Given the description of an element on the screen output the (x, y) to click on. 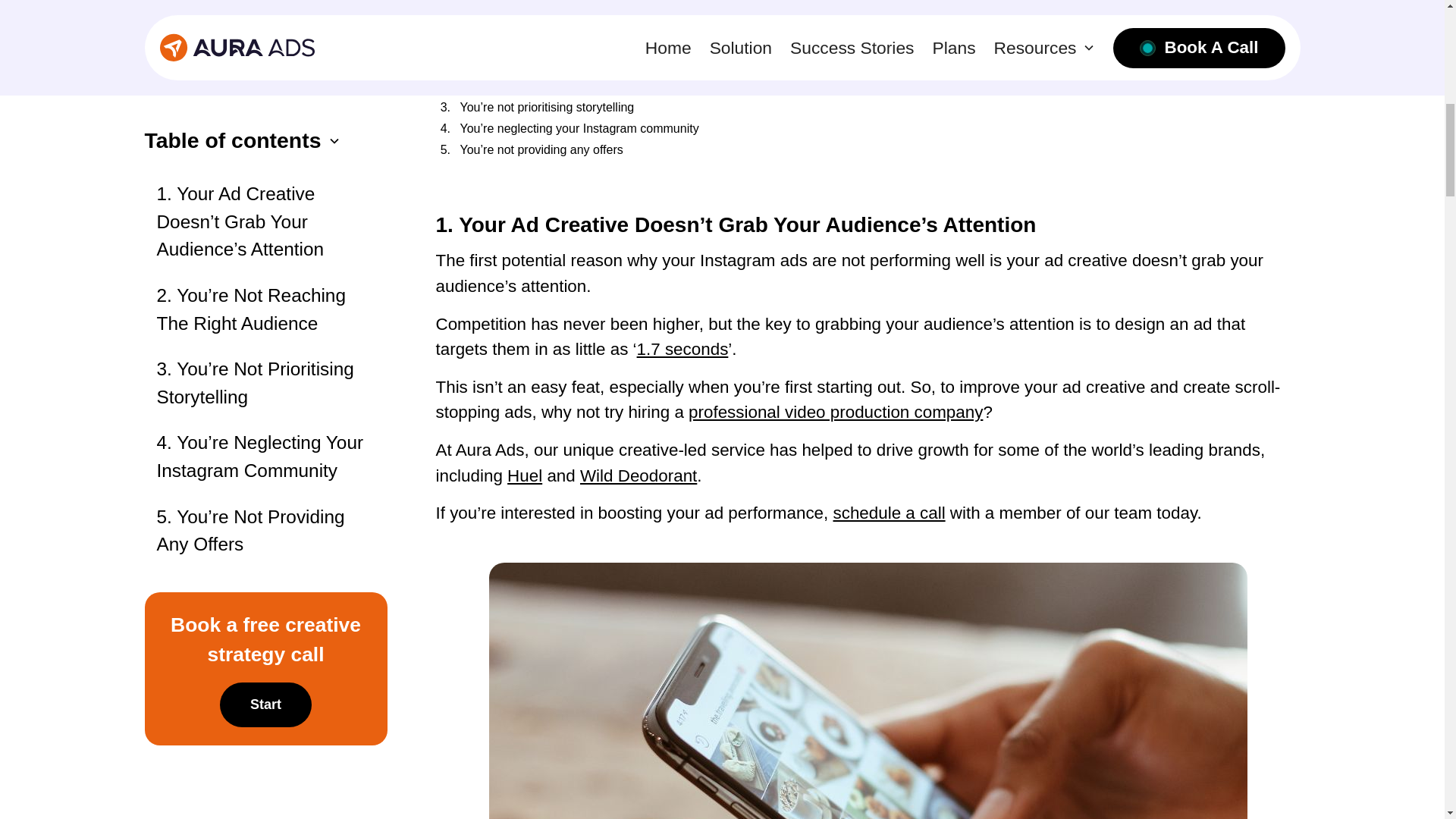
Huel (523, 475)
schedule a call (888, 512)
Start (265, 434)
1.7 seconds (683, 348)
Wild Deodorant (638, 475)
professional video production company (835, 411)
